Given the description of an element on the screen output the (x, y) to click on. 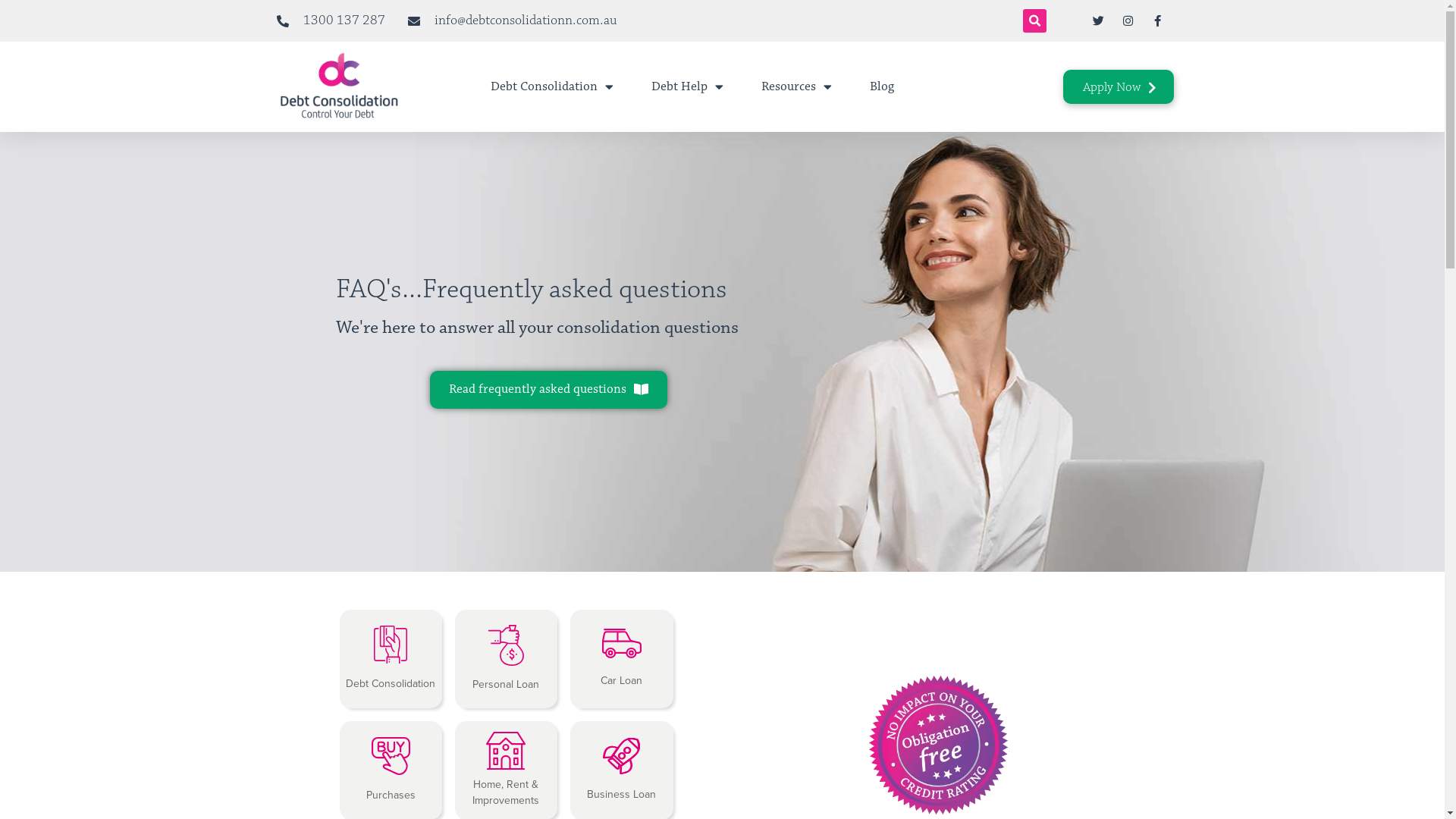
1300 137 287 Element type: text (330, 20)
Debt Help Element type: text (687, 86)
Debt Consolidation Element type: text (551, 86)
Personal Loan Element type: text (506, 658)
Blog Element type: text (881, 86)
info@debtconsolidationn.com.au Element type: text (512, 20)
Car Loan Element type: text (621, 658)
Resources Element type: text (796, 86)
Apply Now Element type: text (1118, 86)
Read frequently asked questions Element type: text (548, 389)
Debt Consolidation Element type: text (390, 658)
